Given the description of an element on the screen output the (x, y) to click on. 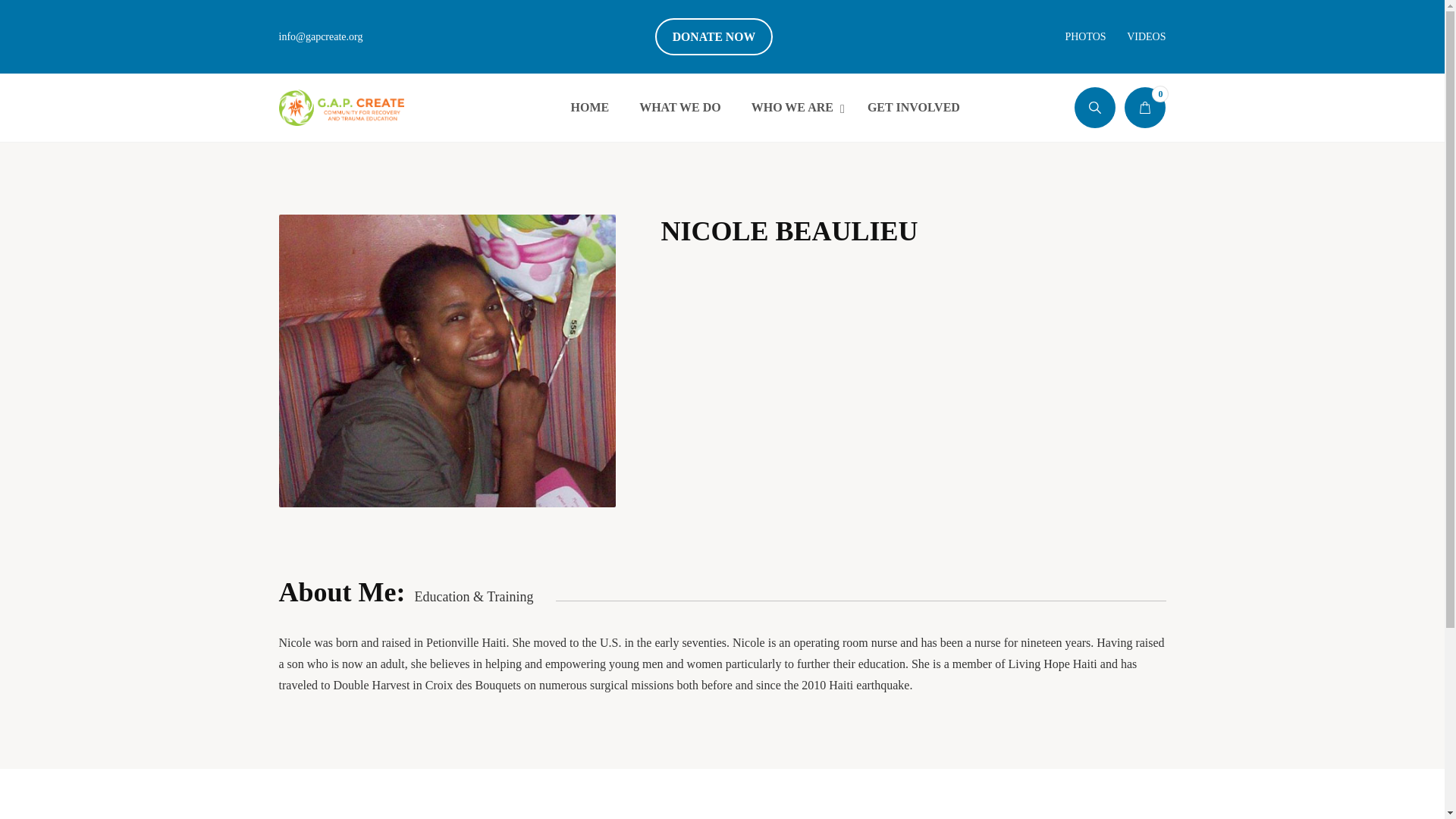
WHO WE ARE (793, 107)
PHOTOS (1084, 36)
DONATE NOW (714, 36)
HOME (589, 107)
WHAT WE DO (764, 107)
GET INVOLVED (680, 107)
VIDEOS (913, 107)
0 (1146, 36)
Search (1145, 106)
